Given the description of an element on the screen output the (x, y) to click on. 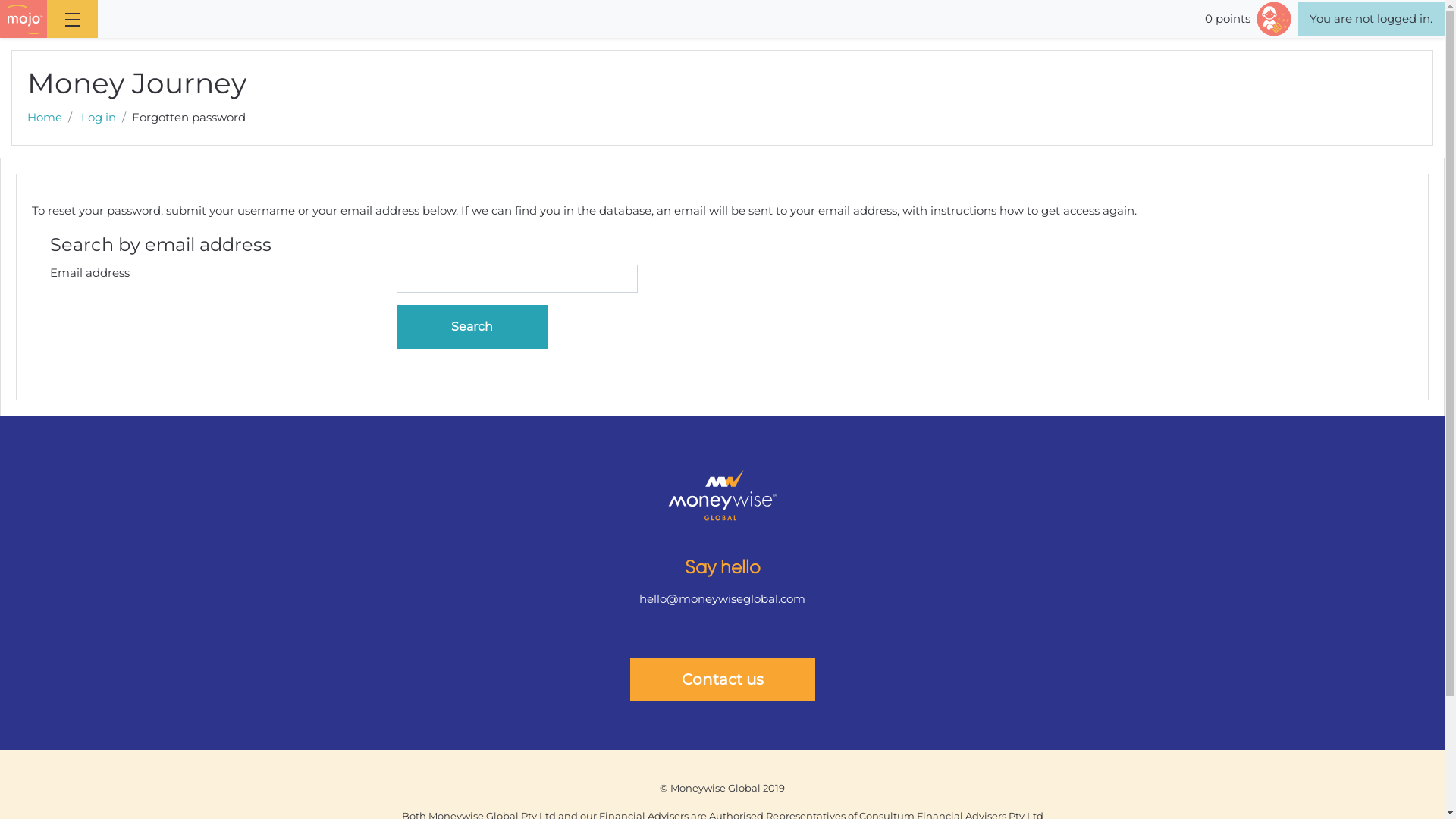
Search Element type: text (472, 326)
Home Element type: text (44, 116)
Log in Element type: text (98, 116)
Contact us Element type: text (721, 679)
Side panel Element type: text (72, 18)
0 points Element type: text (1250, 18)
